Given the description of an element on the screen output the (x, y) to click on. 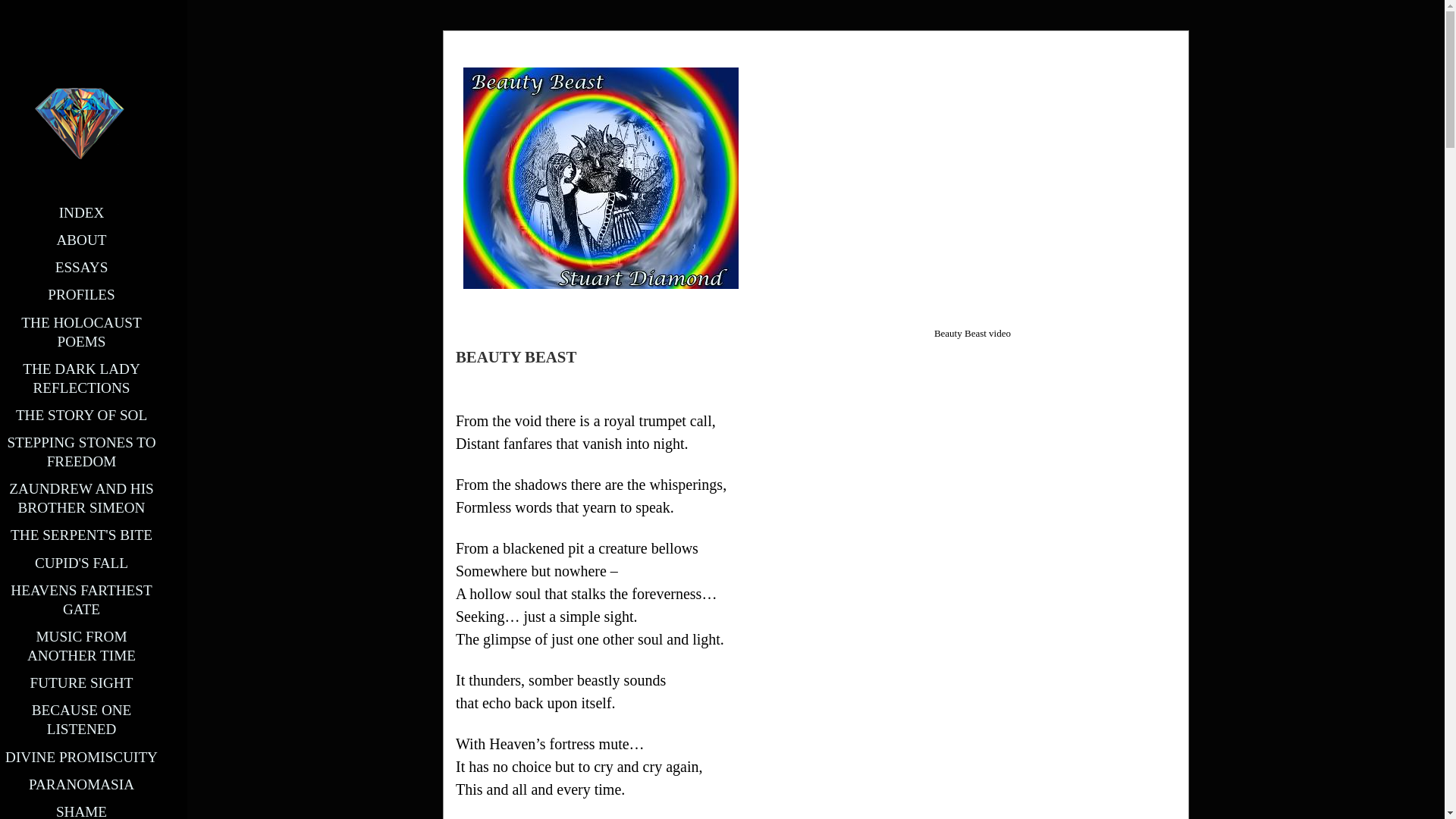
Shame (81, 811)
SHAME (81, 811)
Because One Listened (82, 719)
ESSAYS (81, 267)
THE DARK LADY REFLECTIONS (81, 378)
Heavens Farthest Gate (80, 599)
PROFILES (81, 294)
THE HOLOCAUST POEMS (81, 331)
Music From Another Time (81, 645)
STEPPING STONES TO FREEDOM (81, 451)
INDEX (81, 212)
Essays (81, 267)
THE SERPENT'S BITE (81, 534)
Future Sight (81, 682)
Divine Promiscuity (81, 756)
